Given the description of an element on the screen output the (x, y) to click on. 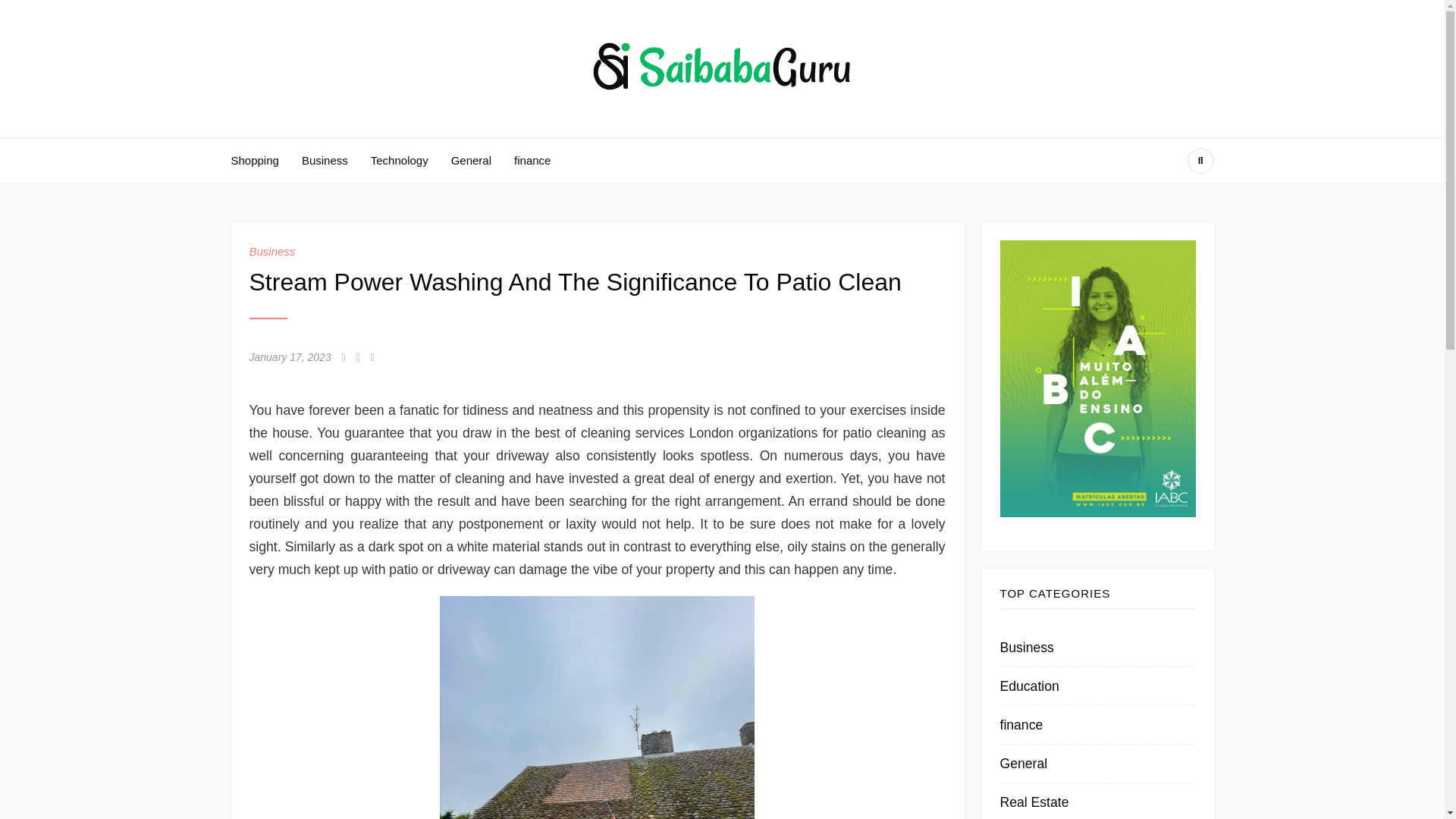
Shopping (254, 160)
January 17, 2023 (289, 357)
finance (1020, 724)
Business (1025, 647)
Technology (399, 160)
Business (324, 160)
General (1022, 763)
Education (1028, 685)
Business (271, 250)
Real Estate (1033, 801)
